Given the description of an element on the screen output the (x, y) to click on. 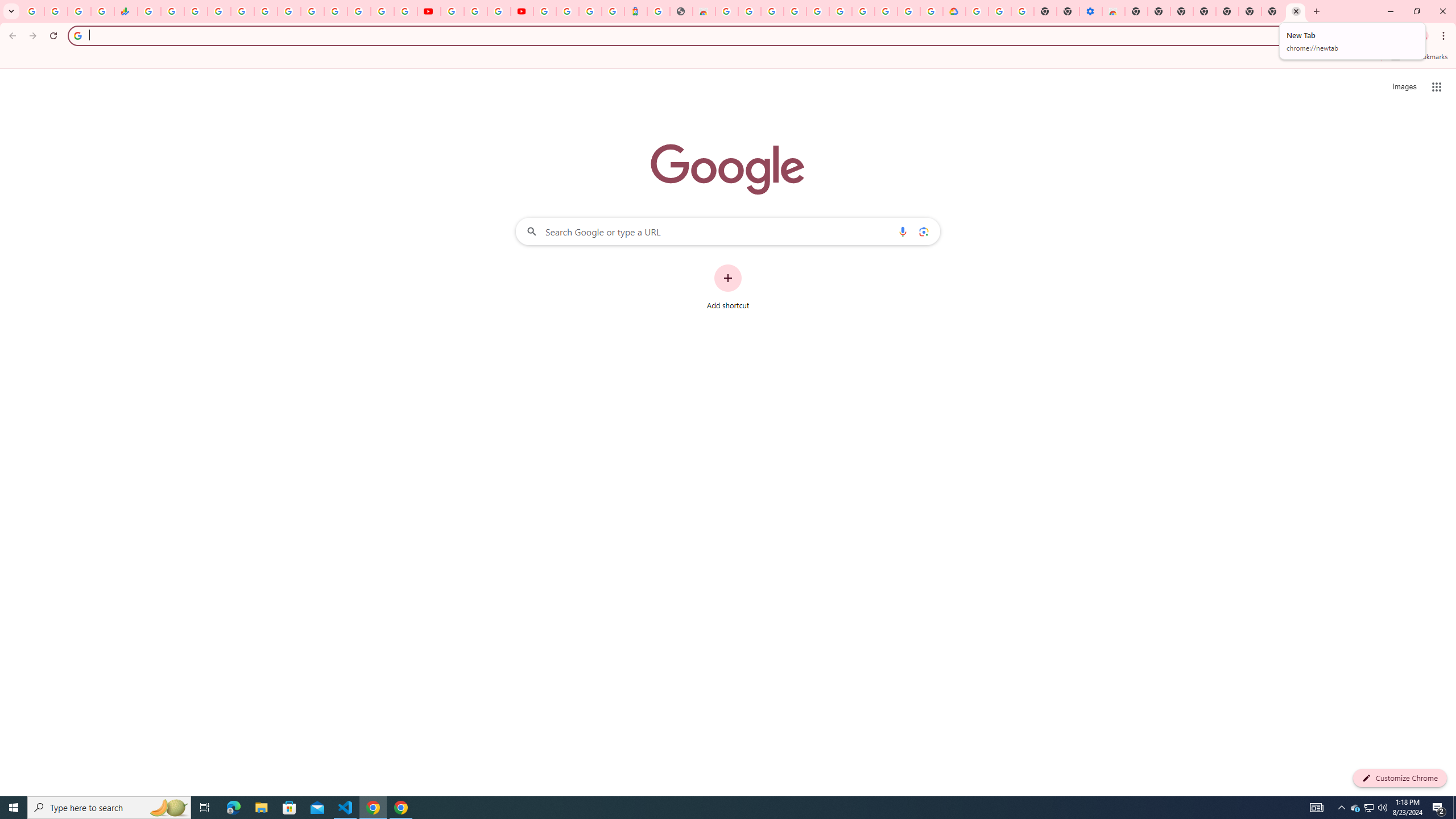
Browse the Google Chrome Community - Google Chrome Community (931, 11)
Sign in - Google Accounts (976, 11)
Chrome Web Store - Accessibility extensions (1113, 11)
Chrome Web Store - Household (703, 11)
Search Google or type a URL (727, 230)
Android TV Policies and Guidelines - Transparency Center (288, 11)
